Given the description of an element on the screen output the (x, y) to click on. 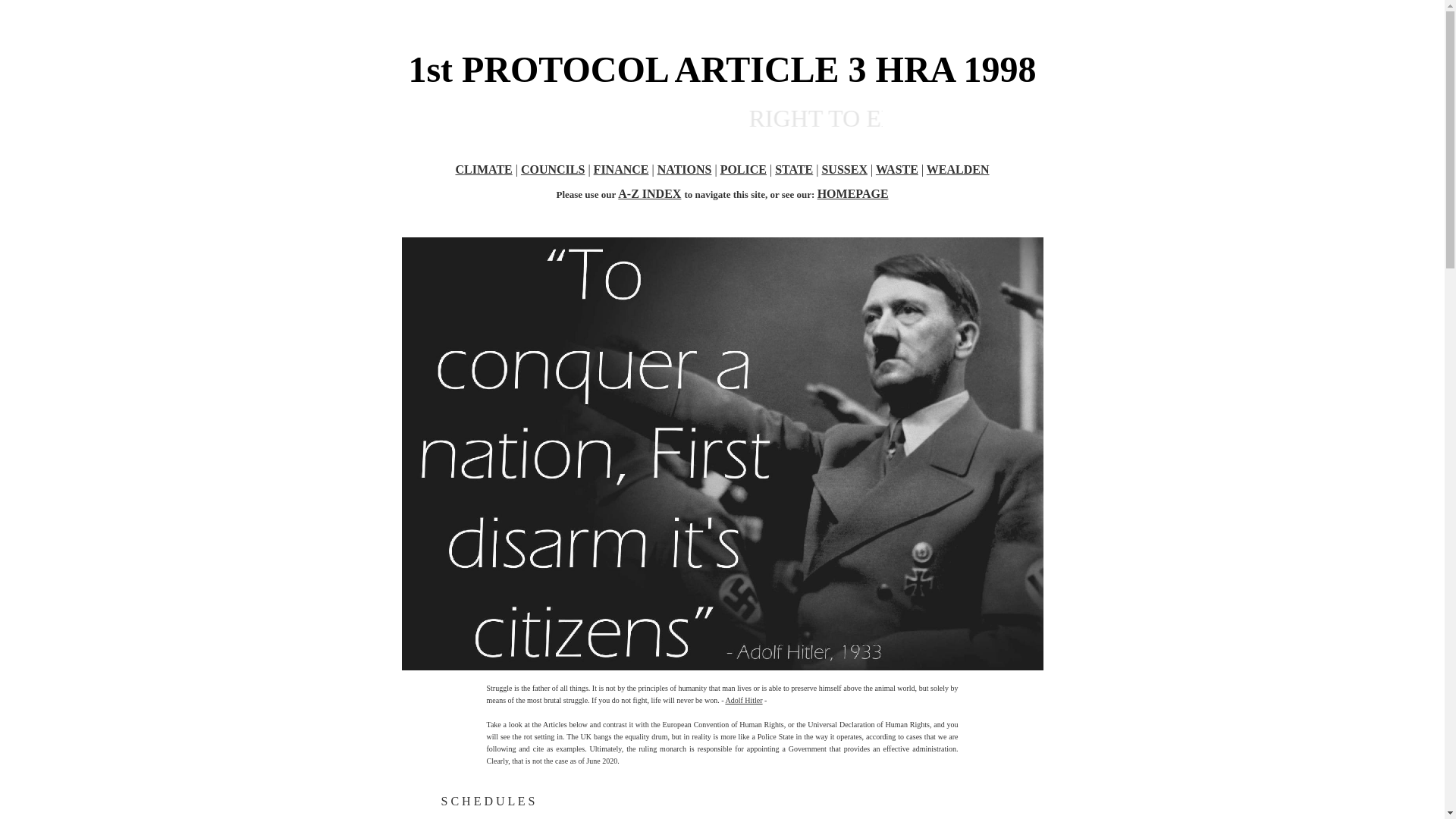
WEALDEN (958, 169)
SUSSEX (843, 169)
FINANCE (621, 169)
WASTE (897, 169)
A-Z INDEX (649, 193)
CLIMATE (483, 169)
COUNCILS (553, 169)
POLICE (743, 169)
STATE (793, 169)
NATIONS (684, 169)
HOMEPAGE (852, 193)
Adolf Hitler (743, 700)
